Given the description of an element on the screen output the (x, y) to click on. 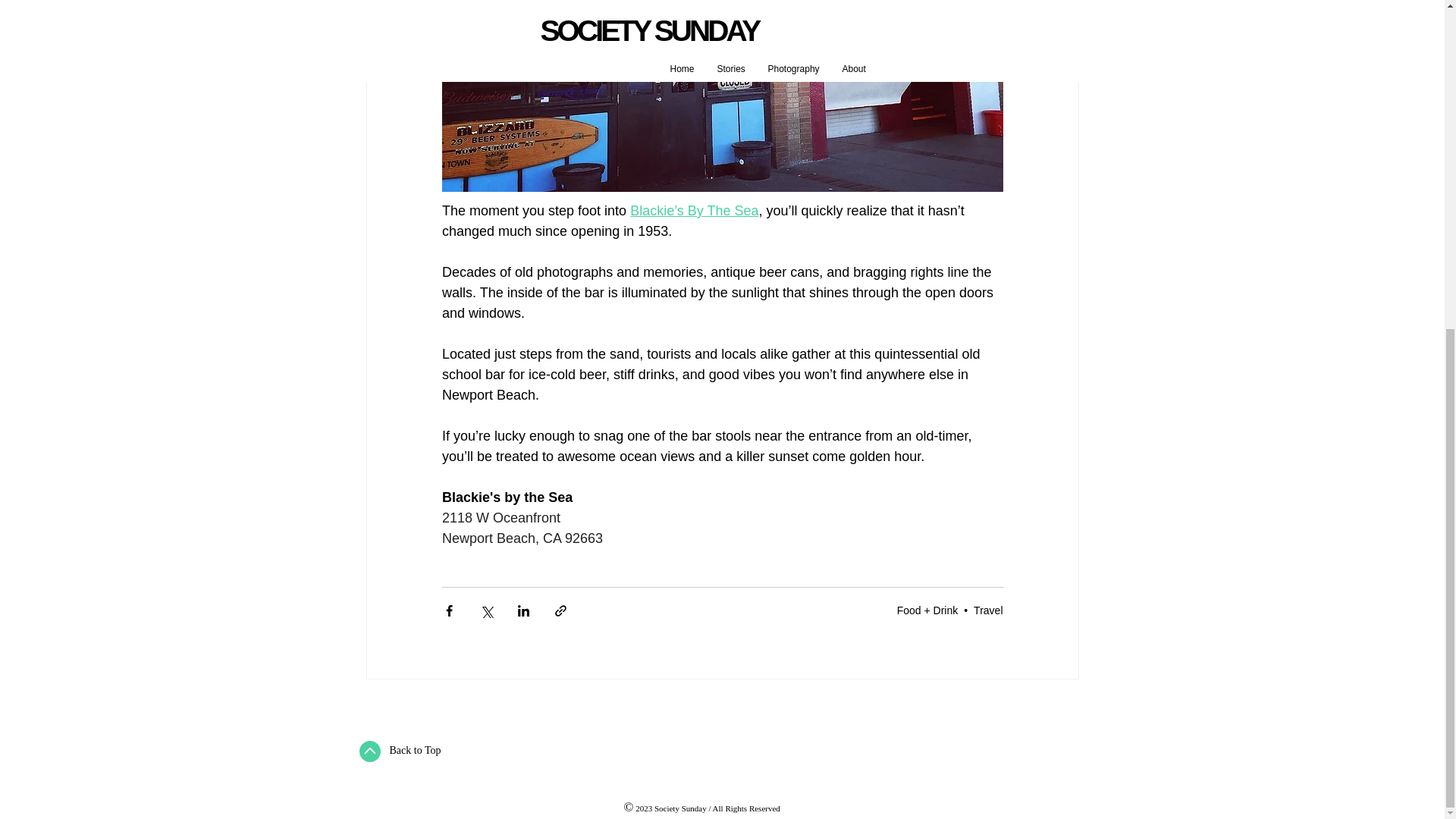
Travel (988, 609)
Back to Top (415, 749)
